Given the description of an element on the screen output the (x, y) to click on. 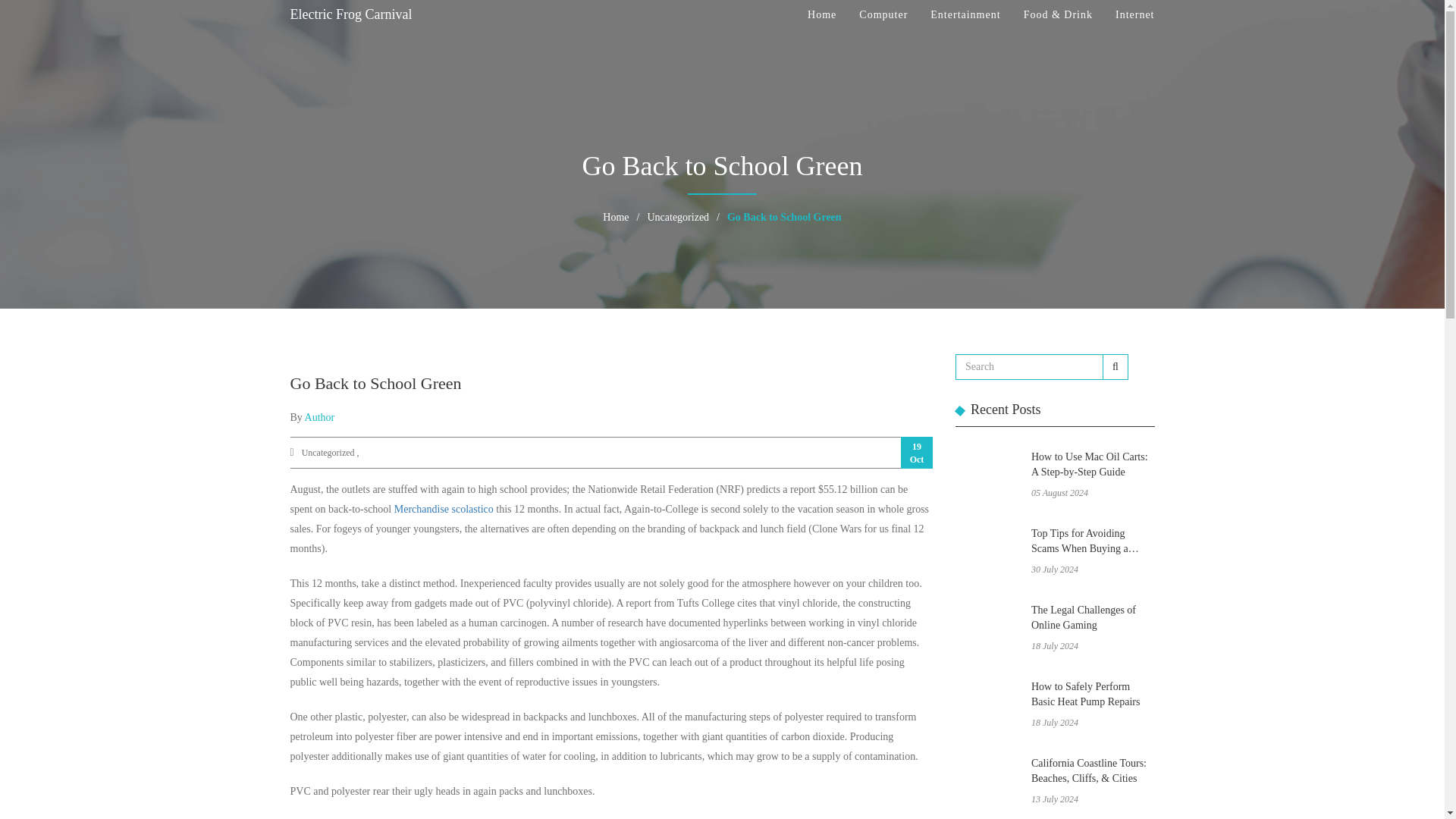
The Legal Challenges of Online Gaming (1092, 618)
Home (615, 216)
Merchandise scolastico (443, 509)
Computer (883, 15)
Home (821, 15)
Go Back to School Green (783, 216)
Entertainment (965, 15)
Home (615, 216)
Electric Frog Carnival (350, 14)
